Given the description of an element on the screen output the (x, y) to click on. 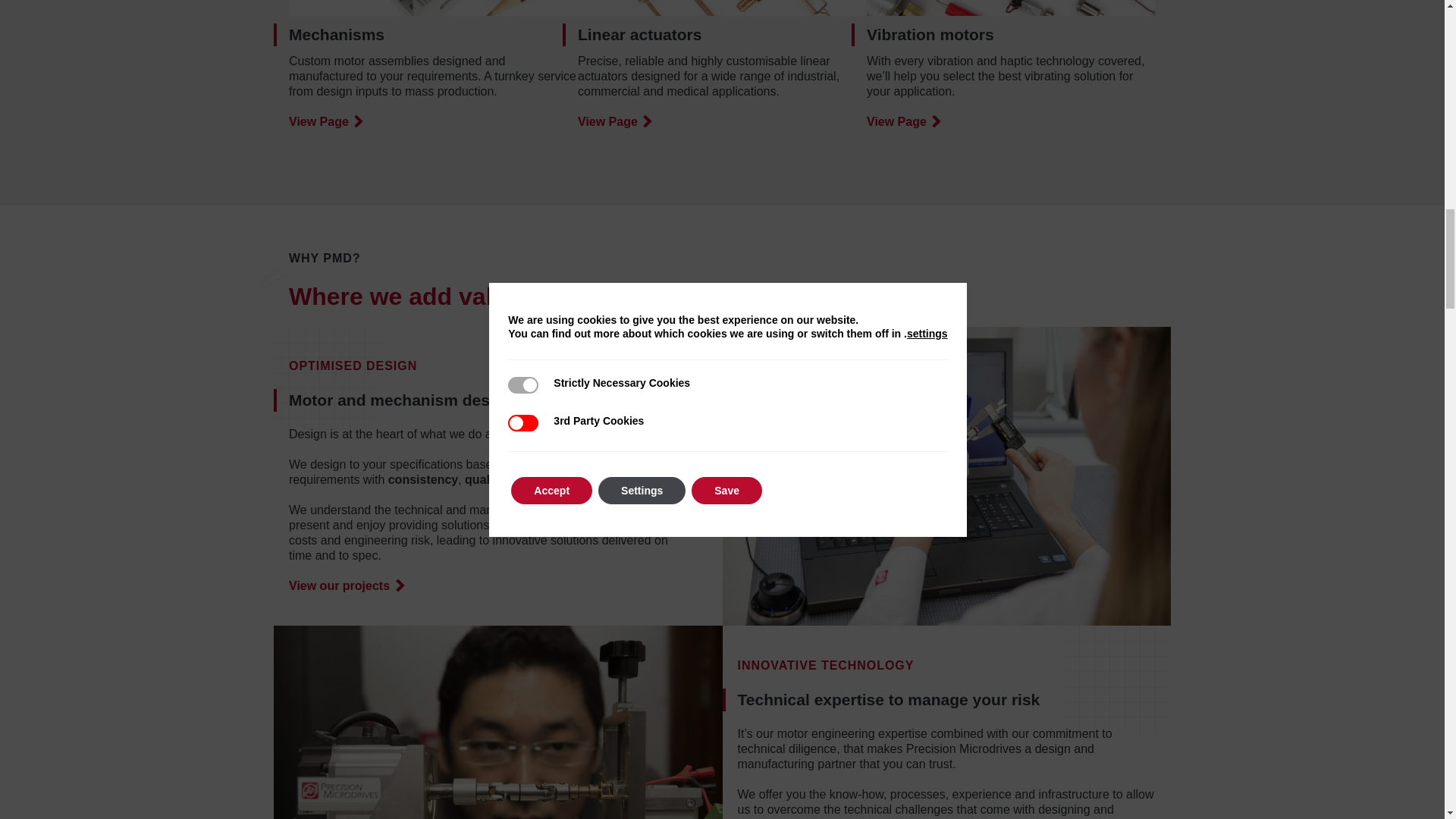
View our projects (345, 585)
